Given the description of an element on the screen output the (x, y) to click on. 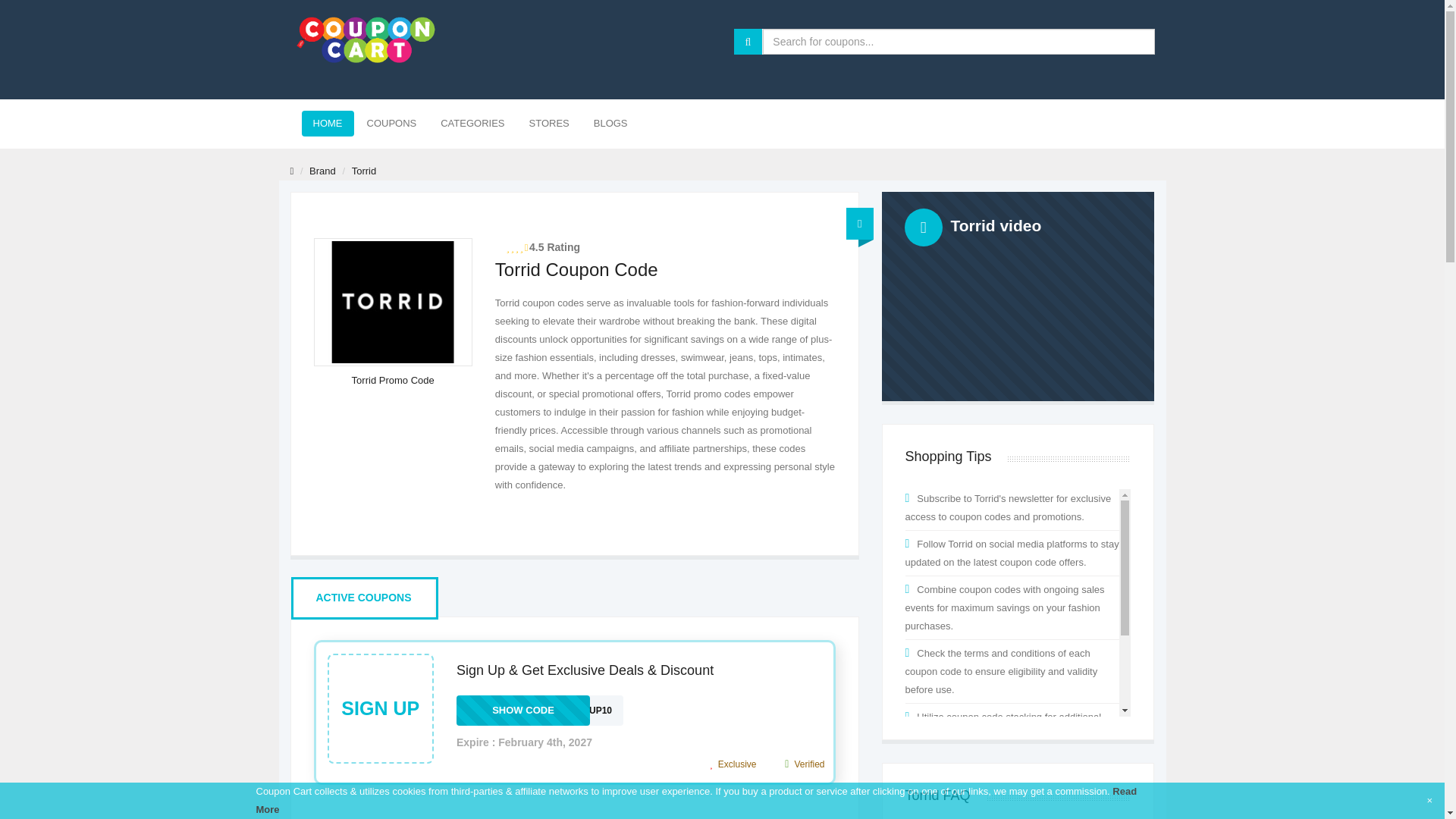
COUPONS (391, 123)
CATEGORIES (472, 123)
ACTIVE COUPONS (540, 710)
Coupon Cart (362, 598)
STORES (365, 39)
Brand (549, 123)
Torrid video (322, 170)
HOME (1017, 295)
BLOGS (327, 123)
